Given the description of an element on the screen output the (x, y) to click on. 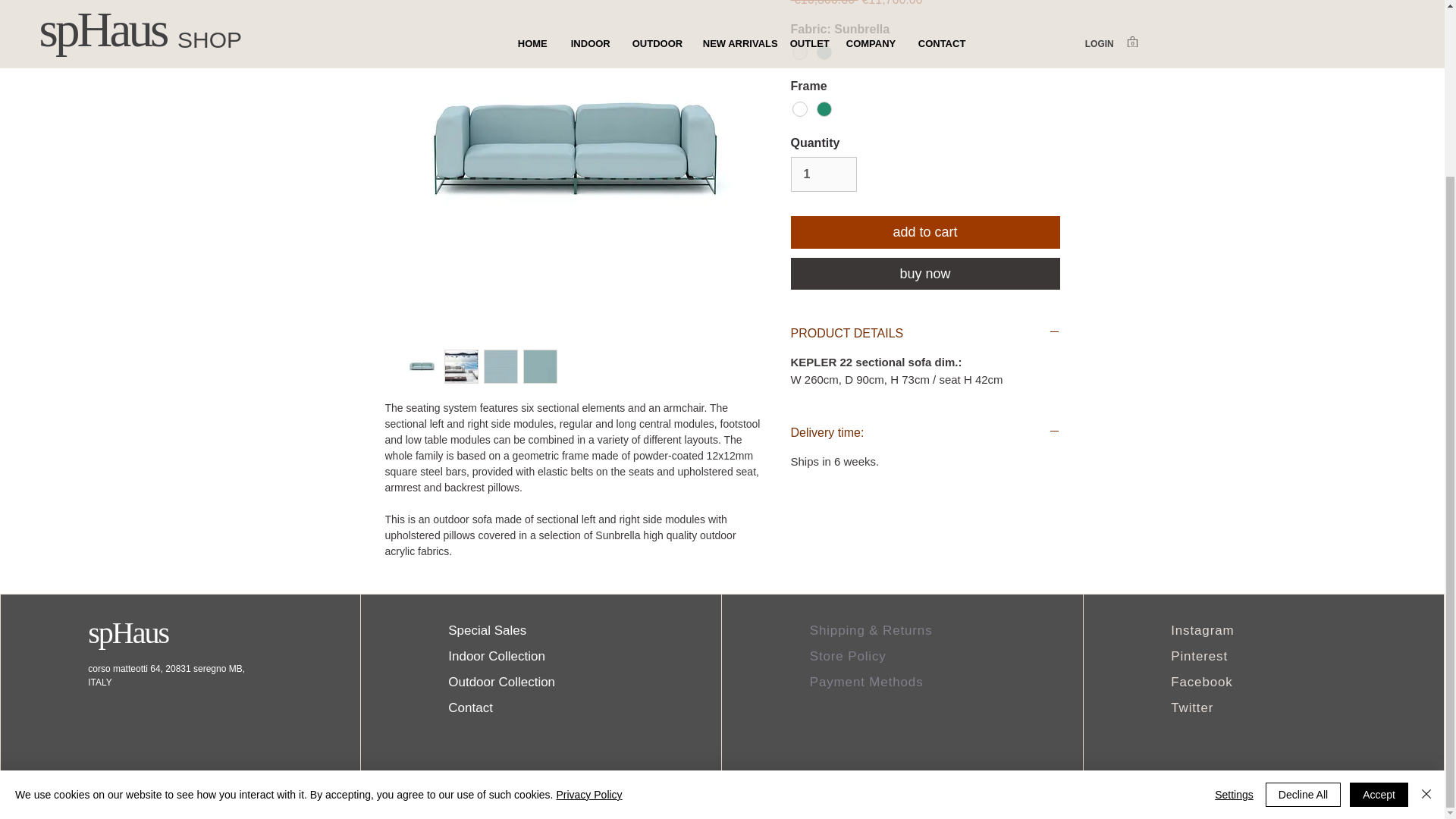
Privacy Policy (588, 580)
Facebook (1200, 681)
Outdoor Collection (501, 681)
Pinterest (1198, 656)
buy now (924, 273)
Contact (470, 707)
add to cart (924, 232)
1 (823, 174)
spHaus (127, 632)
Indoor Collection (496, 656)
Accept (1378, 580)
Twitter (1191, 707)
Instagram (1201, 630)
Special Sales (486, 630)
PRODUCT DETAILS (924, 333)
